Given the description of an element on the screen output the (x, y) to click on. 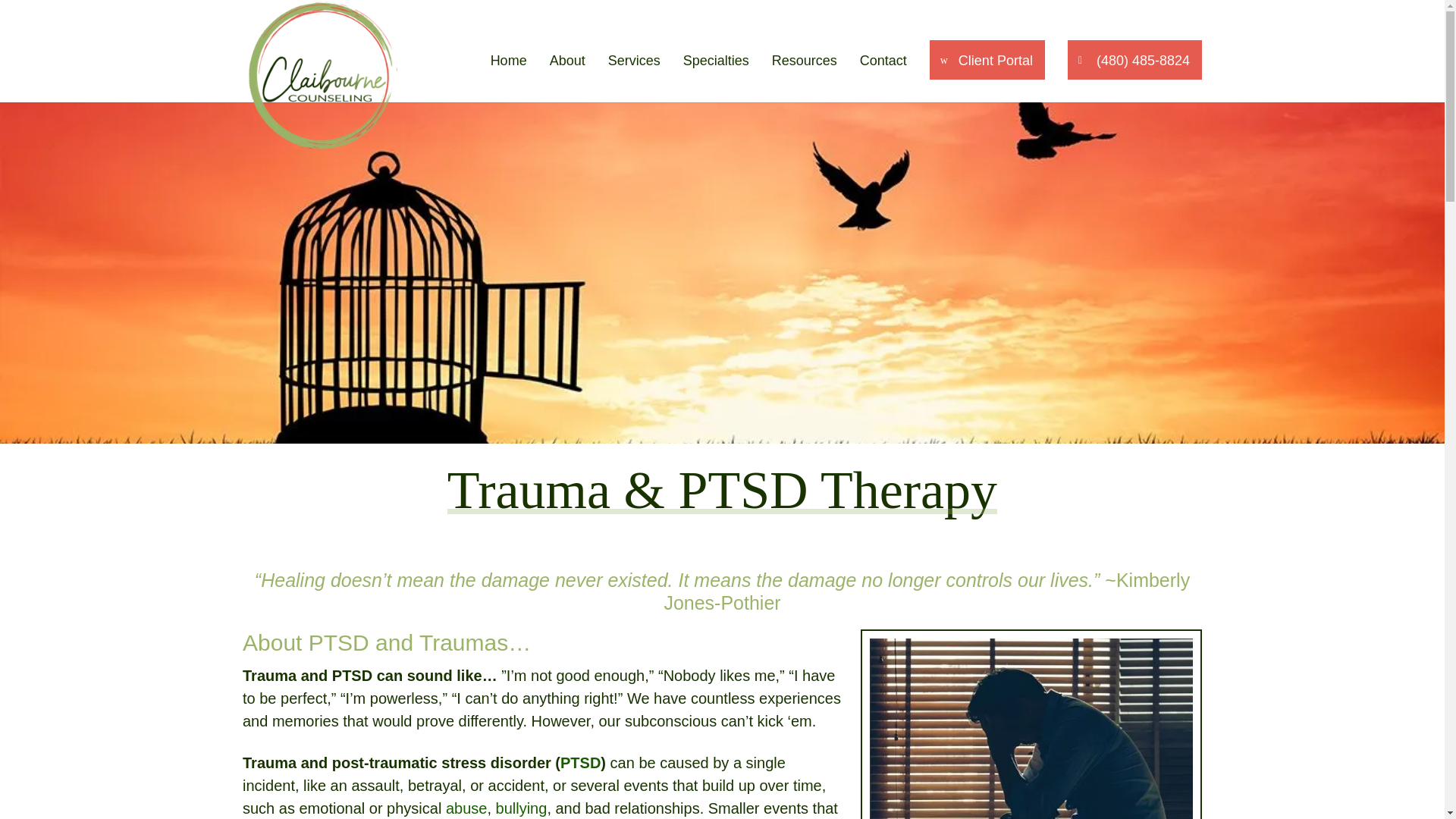
Contact (883, 78)
Resources (804, 78)
Services (634, 78)
Client Portal (987, 59)
Specialties (715, 78)
